Given the description of an element on the screen output the (x, y) to click on. 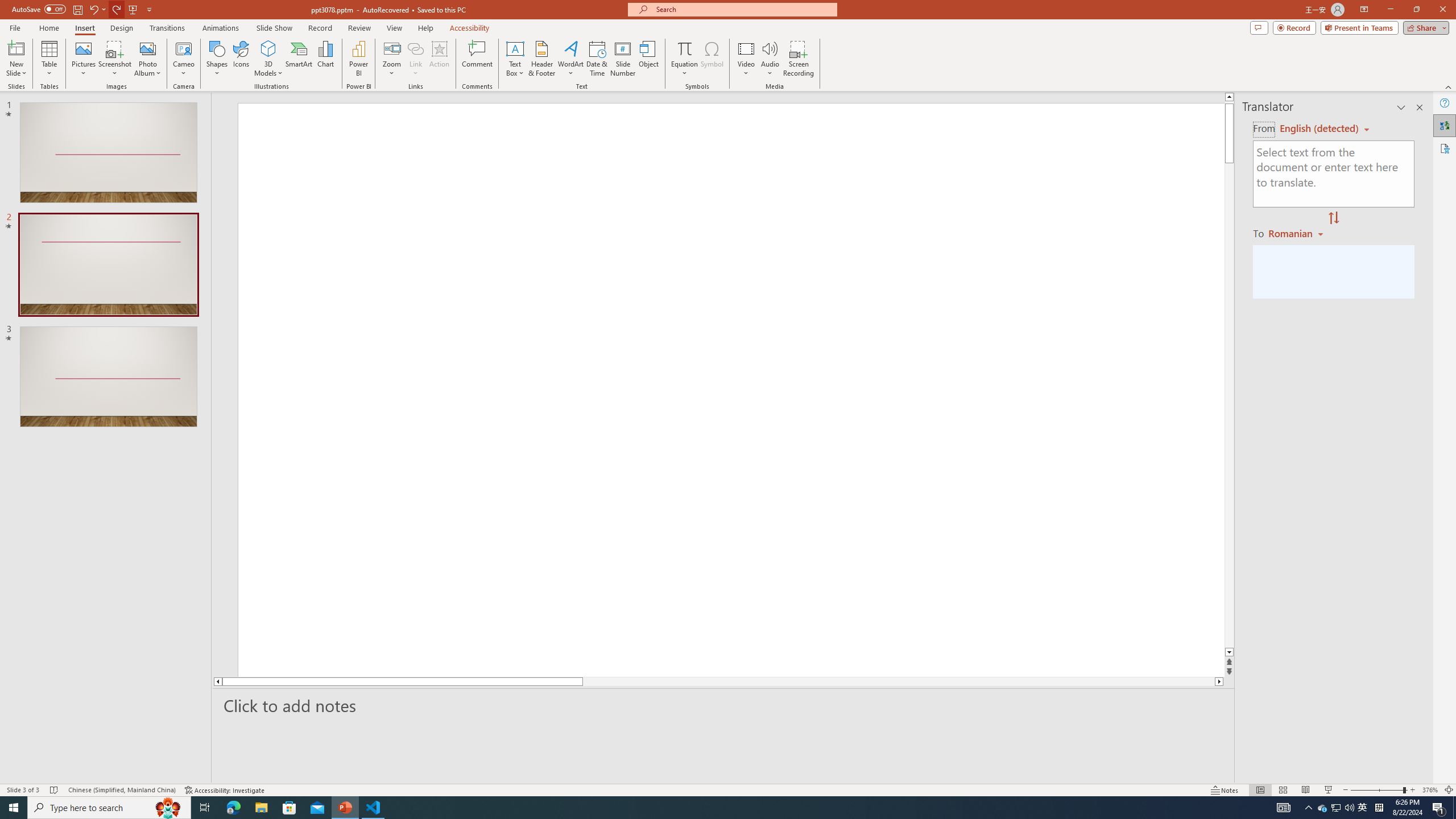
Screen Recording... (798, 58)
Zoom 376% (1430, 790)
New Photo Album... (147, 48)
